Given the description of an element on the screen output the (x, y) to click on. 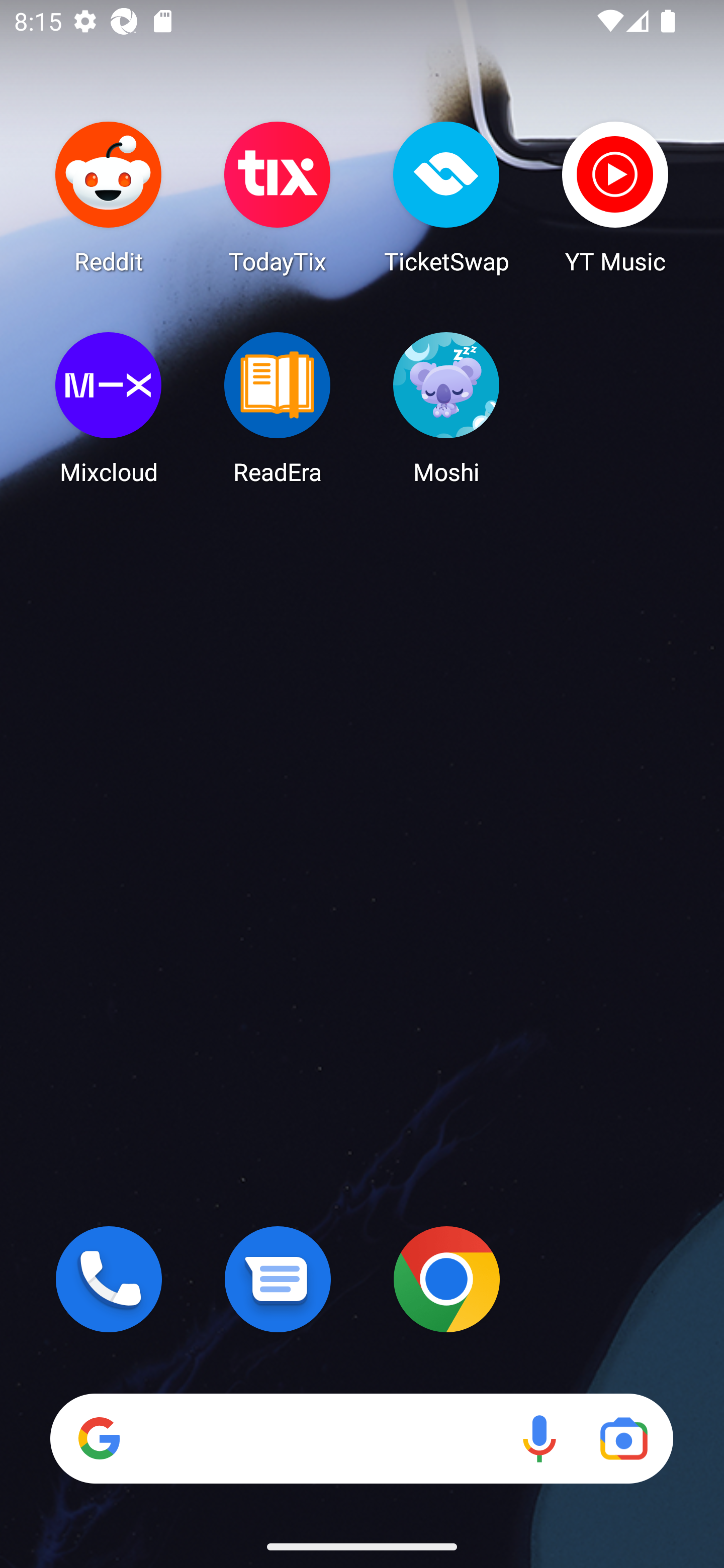
Reddit (108, 196)
TodayTix (277, 196)
TicketSwap (445, 196)
YT Music (615, 196)
Mixcloud (108, 407)
ReadEra (277, 407)
Moshi (445, 407)
Phone (108, 1279)
Messages (277, 1279)
Chrome (446, 1279)
Voice search (539, 1438)
Google Lens (623, 1438)
